Given the description of an element on the screen output the (x, y) to click on. 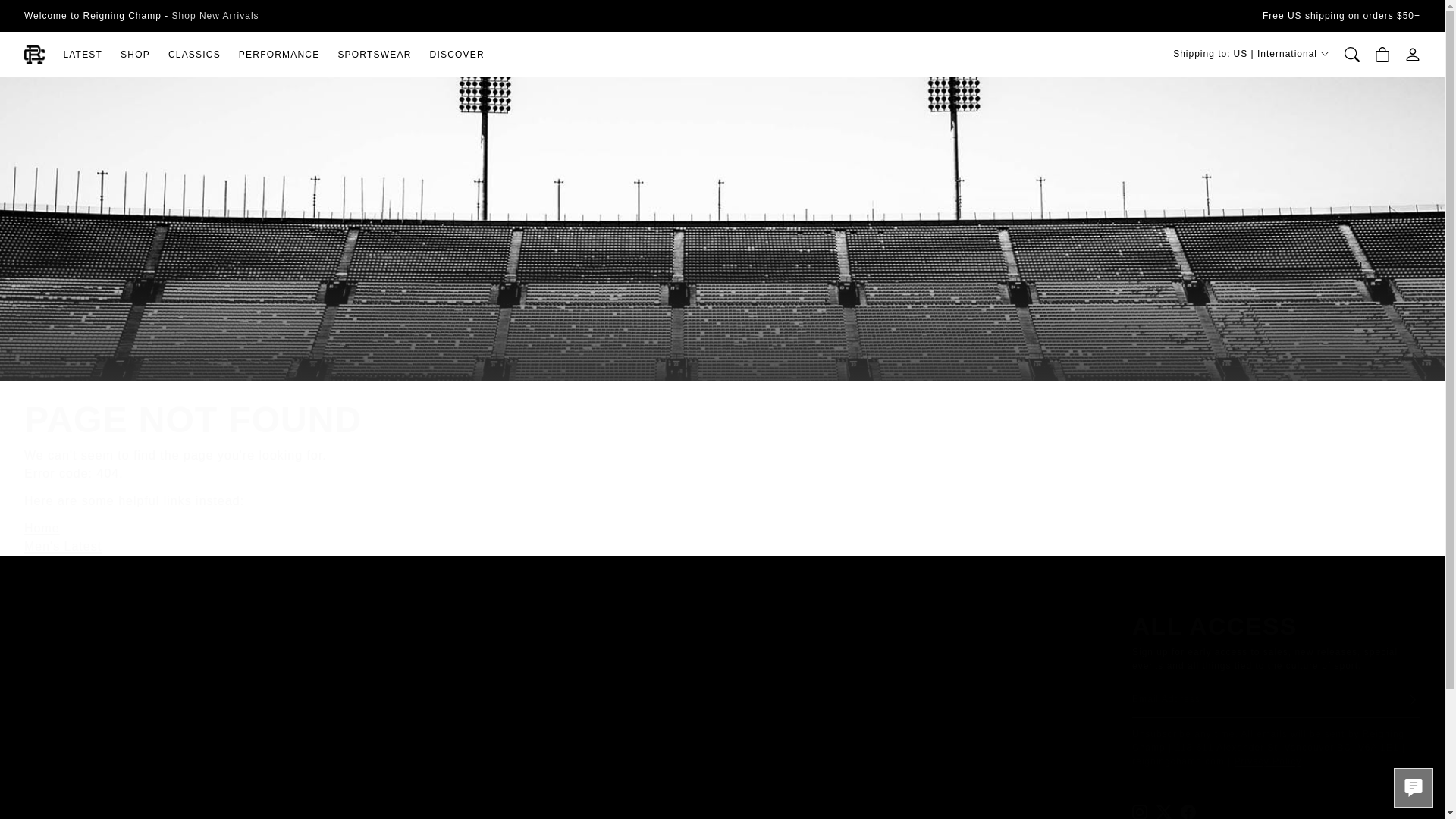
Men's Latest (215, 15)
Men's Latest (62, 546)
Shop New Arrivals (215, 15)
Contact (57, 565)
Privacy Policy (1267, 761)
PAGE NOT FOUND (489, 419)
LATEST (81, 54)
